Given the description of an element on the screen output the (x, y) to click on. 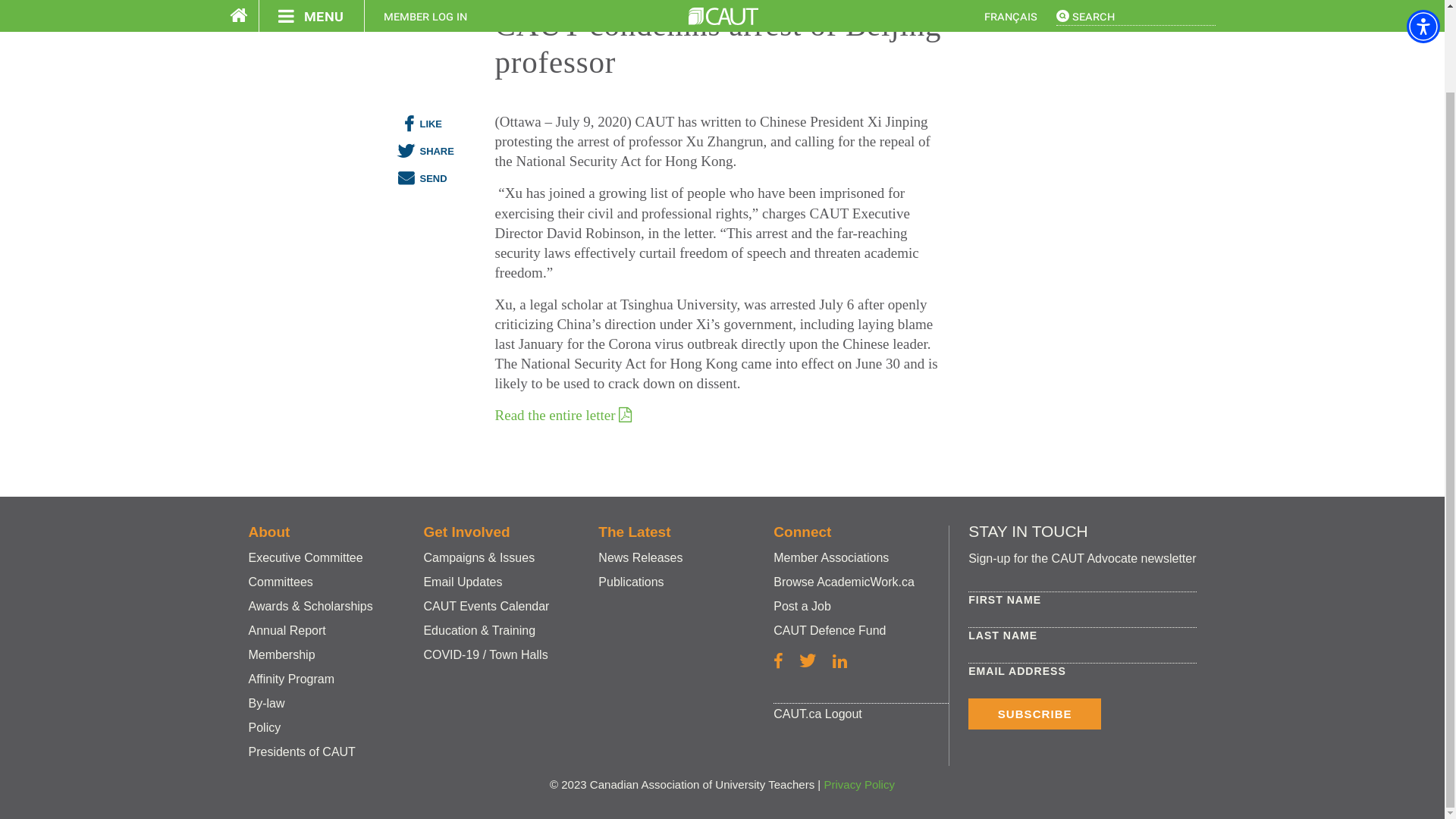
Subscribe (1034, 713)
